Given the description of an element on the screen output the (x, y) to click on. 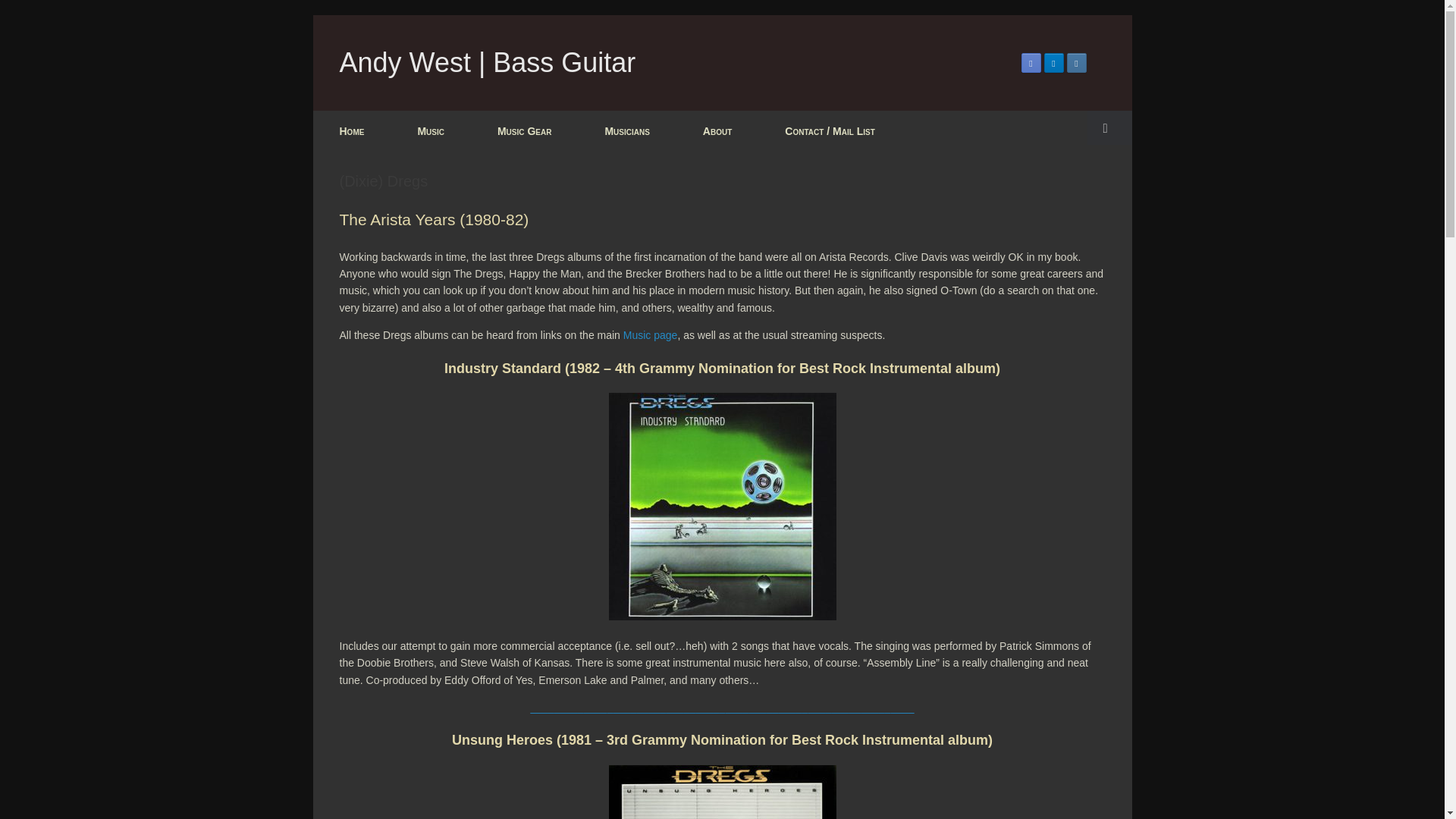
Music (430, 130)
Music Gear (524, 130)
Home (351, 130)
Music page (650, 335)
About (717, 130)
Musicians (626, 130)
